Given the description of an element on the screen output the (x, y) to click on. 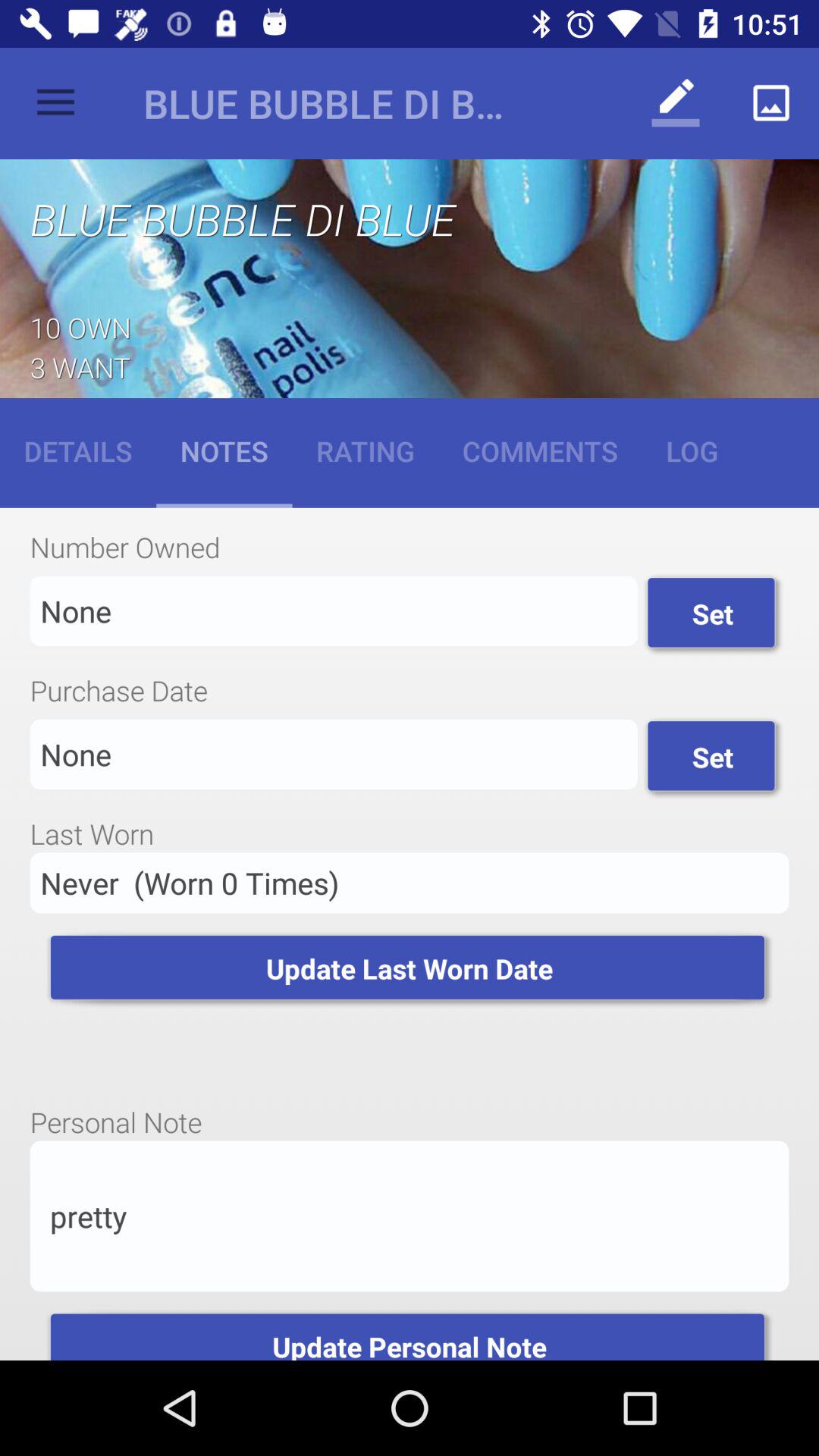
launch the item to the left of notes (78, 450)
